Given the description of an element on the screen output the (x, y) to click on. 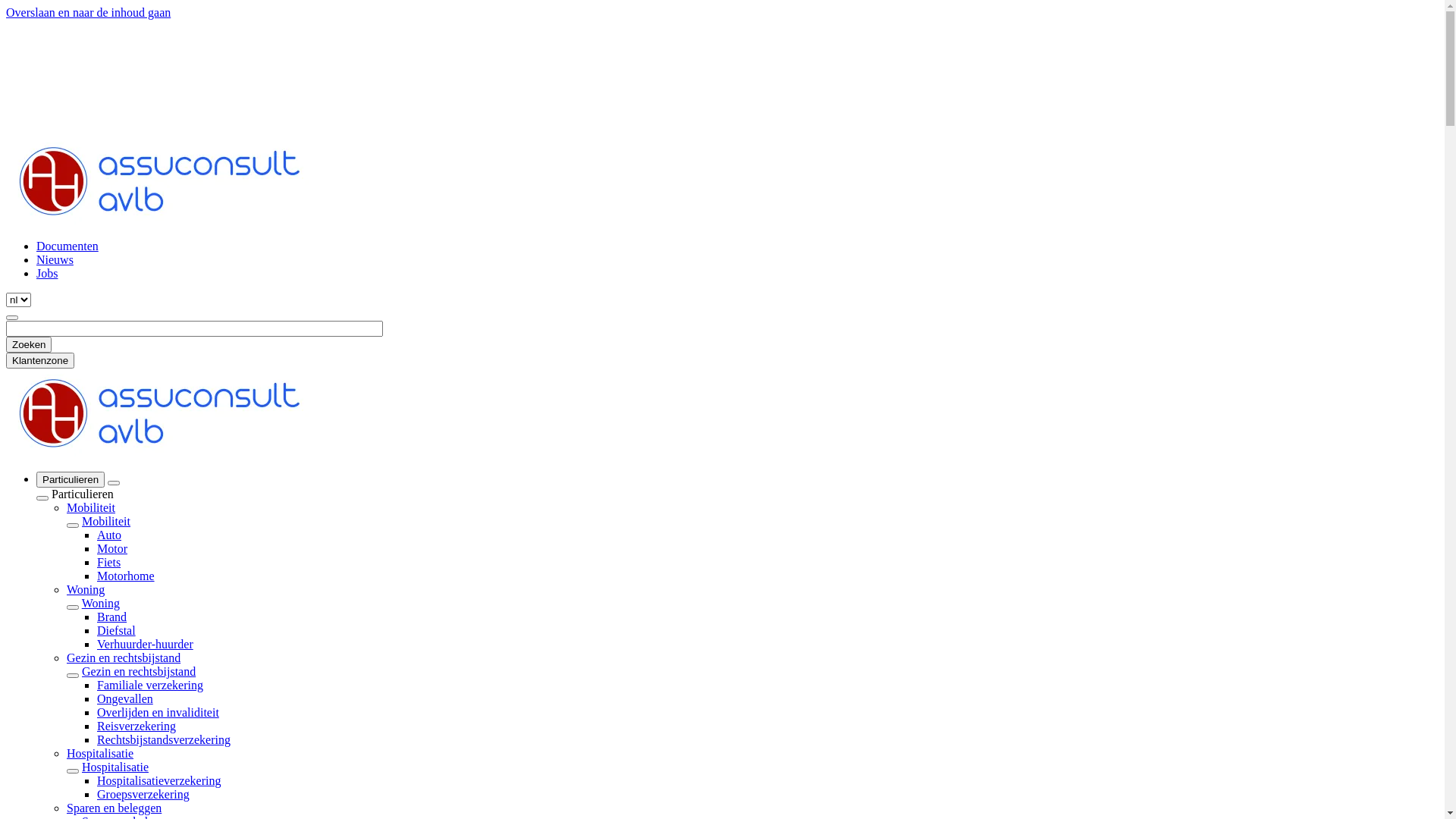
Particulieren Element type: text (70, 479)
Sparen en beleggen Element type: text (113, 807)
Hospitalisatie Element type: text (114, 766)
Mobiliteit Element type: text (90, 507)
Motor Element type: text (112, 548)
Groepsverzekering Element type: text (143, 793)
Mobiliteit Element type: text (105, 520)
Overlijden en invaliditeit Element type: text (158, 712)
Woning Element type: text (100, 602)
Nieuws Element type: text (54, 259)
Gezin en rechtsbijstand Element type: text (123, 657)
Fiets Element type: text (108, 561)
Overslaan en naar de inhoud gaan Element type: text (88, 12)
Brand Element type: text (111, 616)
Hospitalisatie Element type: text (99, 752)
Reisverzekering Element type: text (136, 725)
Documenten Element type: text (67, 245)
Woning Element type: text (85, 589)
Klantenzone Element type: text (40, 360)
Ongevallen Element type: text (125, 698)
Zoeken Element type: text (28, 344)
Diefstal Element type: text (116, 630)
Familiale verzekering Element type: text (150, 684)
Gezin en rechtsbijstand Element type: text (138, 671)
Motorhome Element type: text (125, 575)
Rechtsbijstandsverzekering Element type: text (163, 739)
Verhuurder-huurder Element type: text (145, 643)
Hospitalisatieverzekering Element type: text (159, 780)
Auto Element type: text (109, 534)
Jobs Element type: text (46, 272)
